Given the description of an element on the screen output the (x, y) to click on. 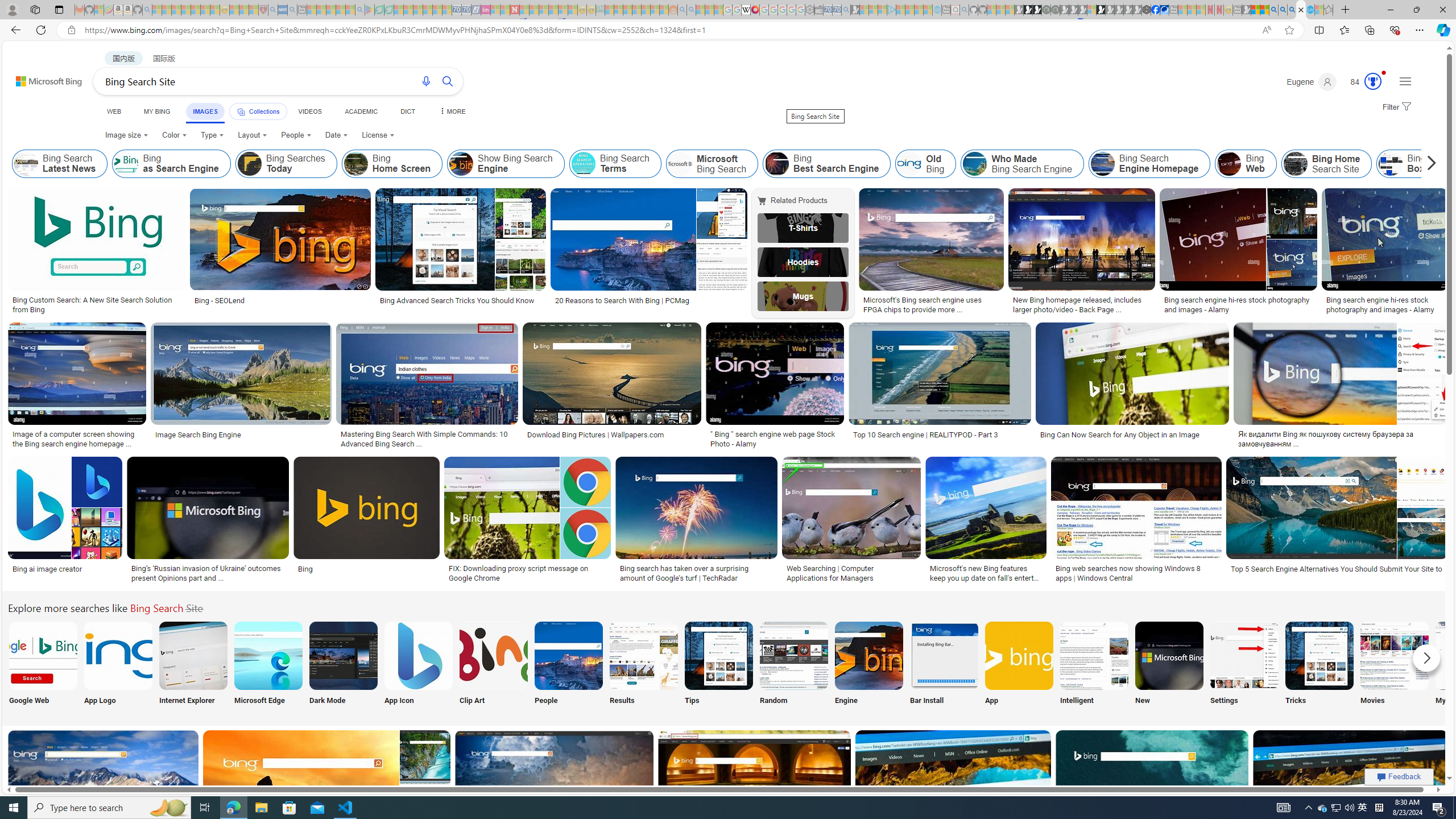
Web Searching | Computer Applications for Managers (850, 573)
Bing Search App (1018, 654)
Bing Intelligent Search Intelligent (1093, 665)
Show Bing Search Engine (461, 163)
Top 10 Search engine | REALITYPOD - Part 3 (939, 434)
Web Searching | Computer Applications for Managers (850, 573)
Bing Search Dark Mode Dark Mode (342, 665)
Eugene (1311, 81)
" Bing " search engine web page Stock Photo - AlamySave (777, 387)
Clip Art (493, 665)
